Given the description of an element on the screen output the (x, y) to click on. 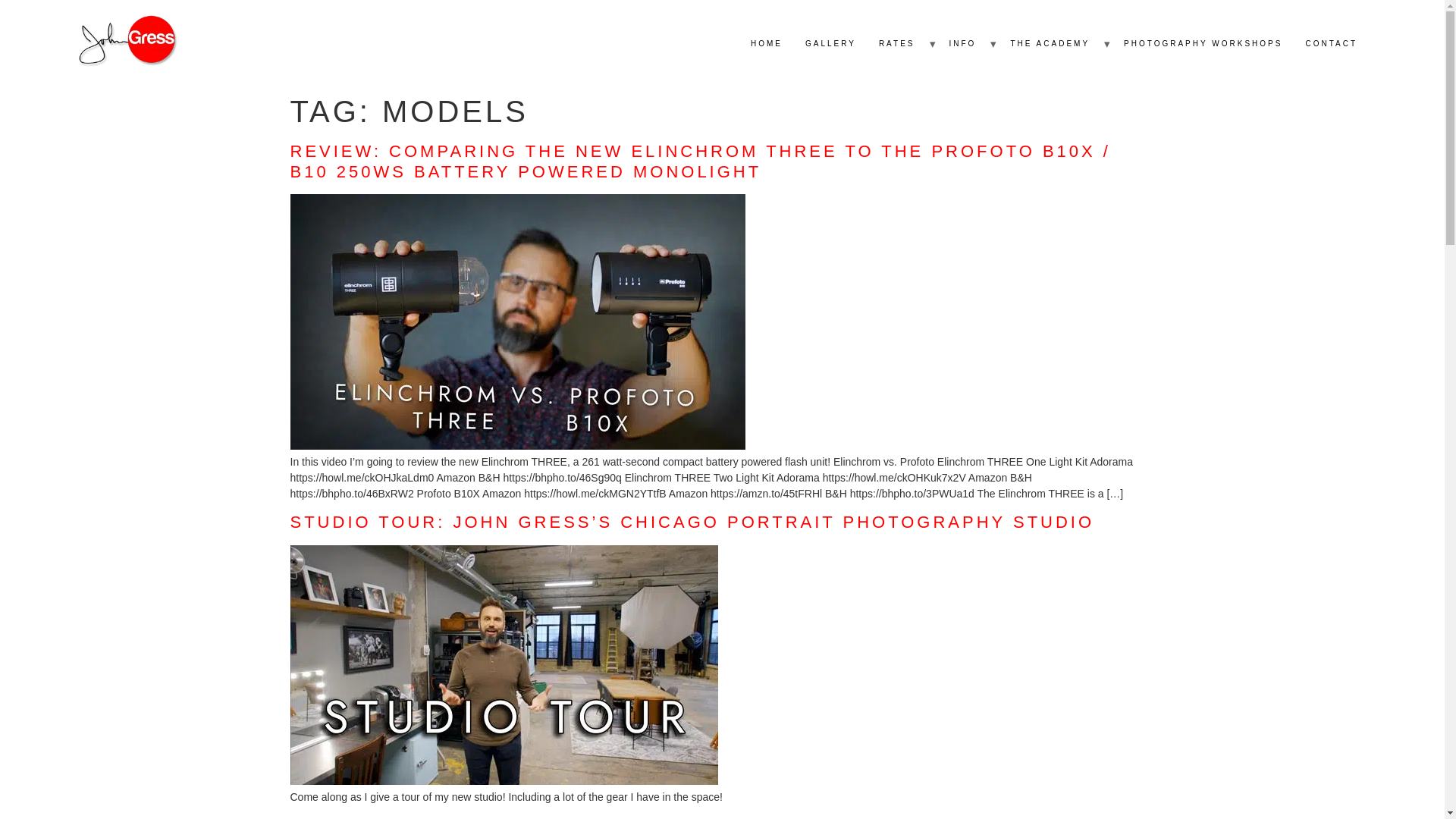
INFO (962, 43)
HOME (766, 43)
GALLERY (830, 43)
PHOTOGRAPHY WORKSHOPS (1203, 43)
THE ACADEMY (1049, 43)
CONTACT (1331, 43)
RATES (896, 43)
